Given the description of an element on the screen output the (x, y) to click on. 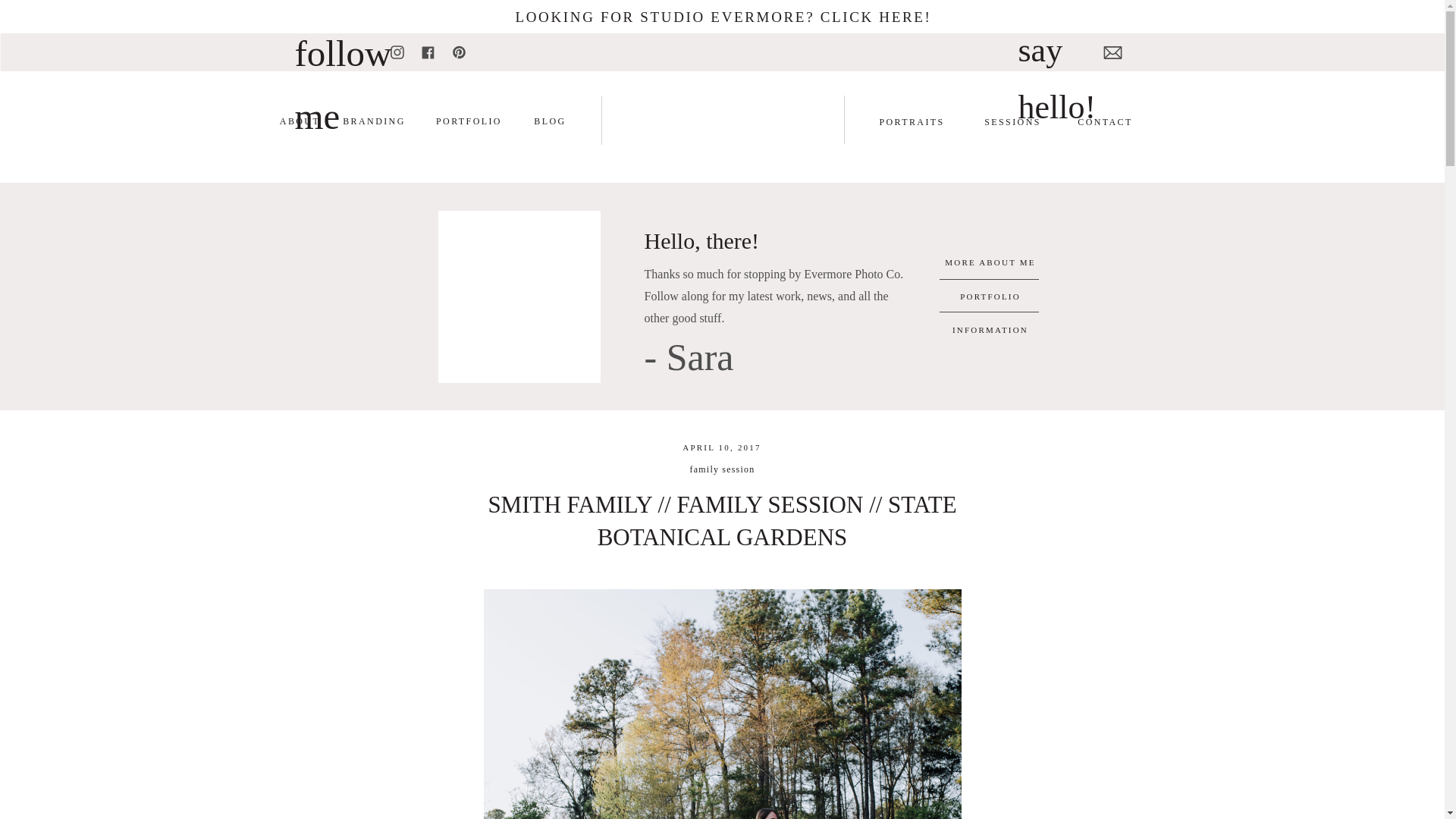
INFORMATION (989, 329)
Instagram-color Created with Sketch. (397, 51)
family session (722, 469)
CONTACT (1104, 123)
LOOKING FOR STUDIO EVERMORE? CLICK HERE! (723, 16)
PORTRAITS (912, 123)
SESSIONS (1012, 123)
Instagram-color Created with Sketch. (397, 51)
Facebook Copy-color Created with Sketch. (427, 52)
say hello! (1058, 42)
PORTFOLIO (468, 122)
ABOUT (300, 122)
Facebook Copy-color Created with Sketch. (427, 52)
BRANDING (374, 122)
BLOG (550, 122)
